Given the description of an element on the screen output the (x, y) to click on. 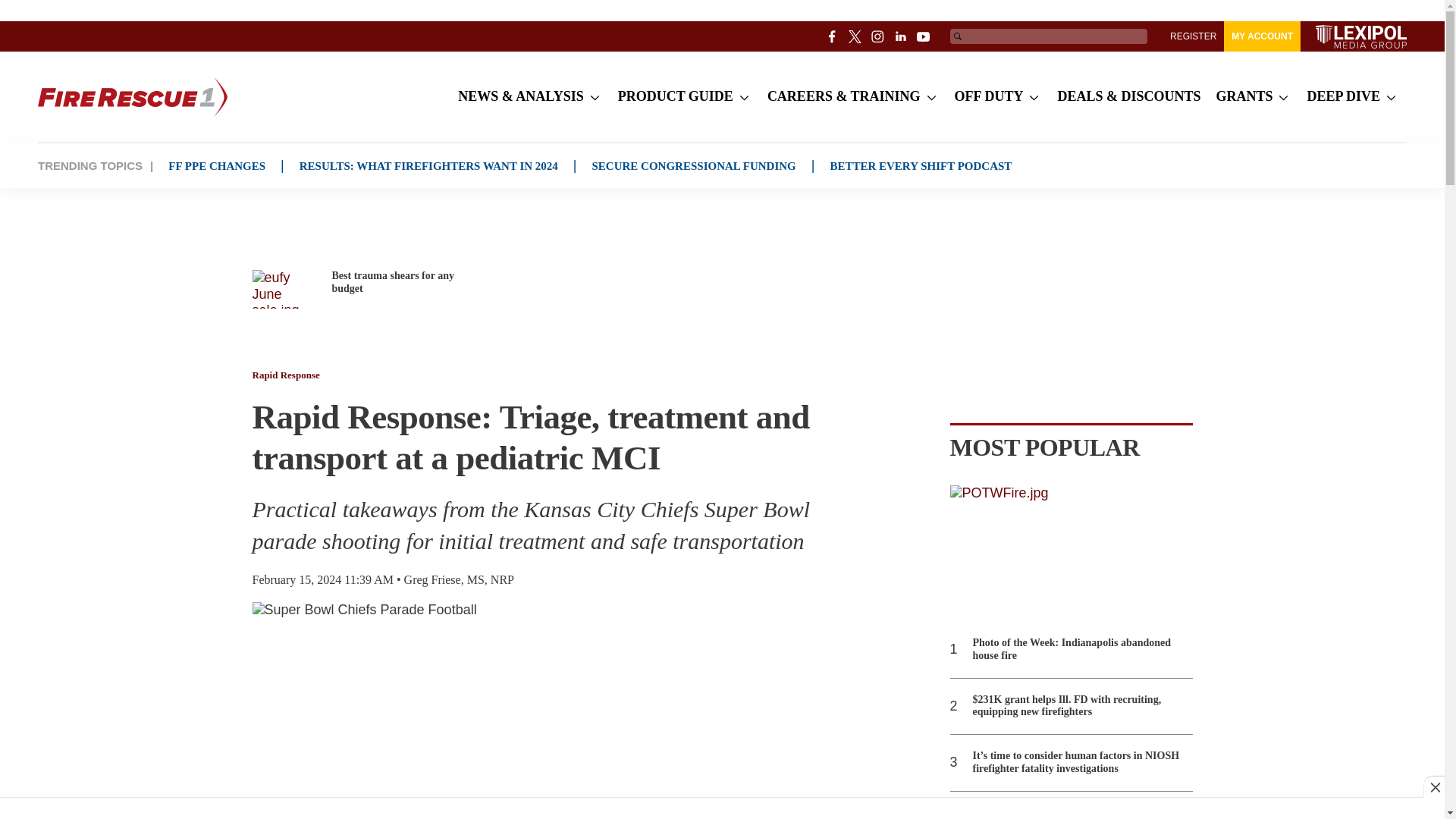
instagram (877, 36)
REGISTER (1192, 36)
youtube (923, 36)
linkedin (900, 36)
MY ACCOUNT (1262, 36)
twitter (855, 36)
facebook (832, 36)
